Given the description of an element on the screen output the (x, y) to click on. 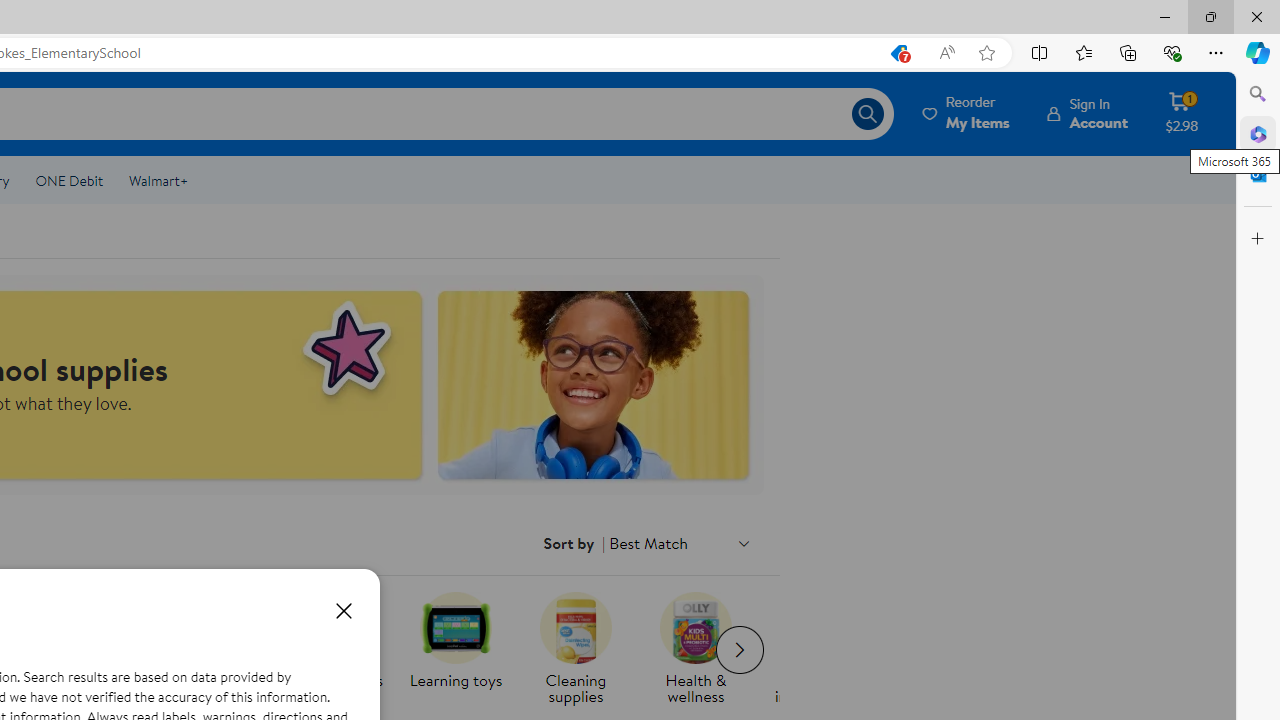
This site has coupons! Shopping in Microsoft Edge, 7 (898, 53)
